Given the description of an element on the screen output the (x, y) to click on. 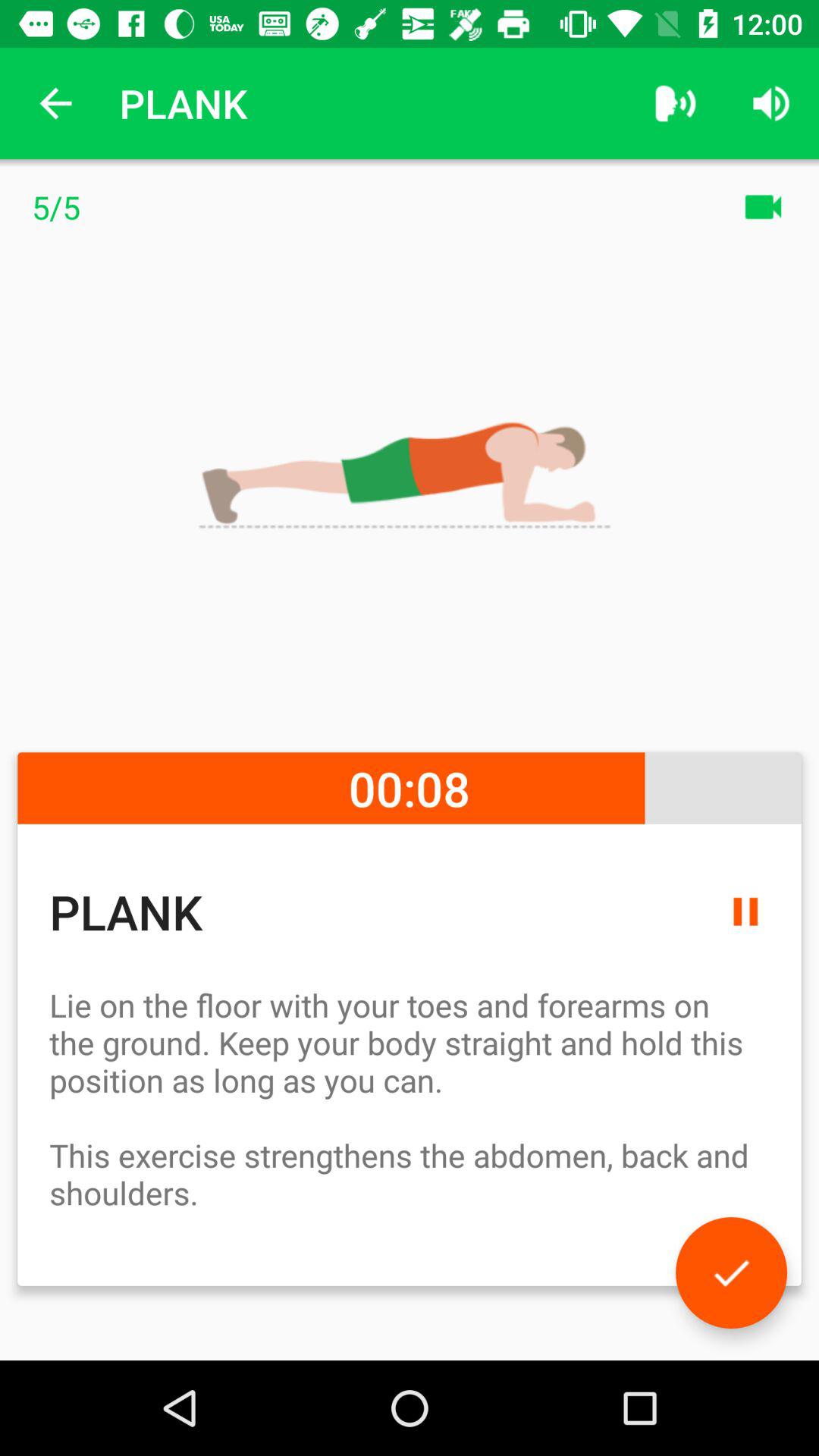
select the icon next to the plank app (55, 103)
